Given the description of an element on the screen output the (x, y) to click on. 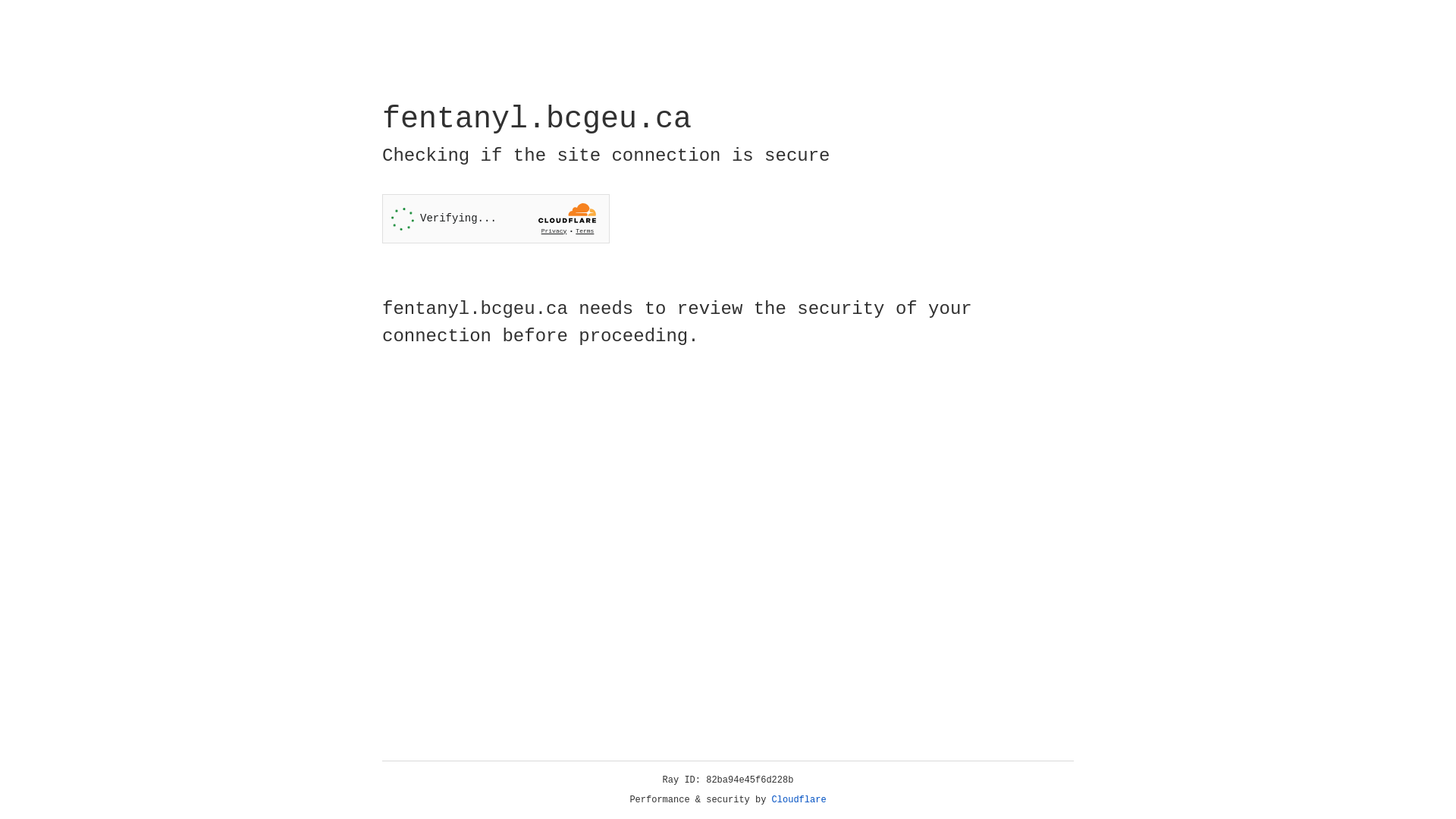
Cloudflare Element type: text (798, 799)
Widget containing a Cloudflare security challenge Element type: hover (495, 218)
